Given the description of an element on the screen output the (x, y) to click on. 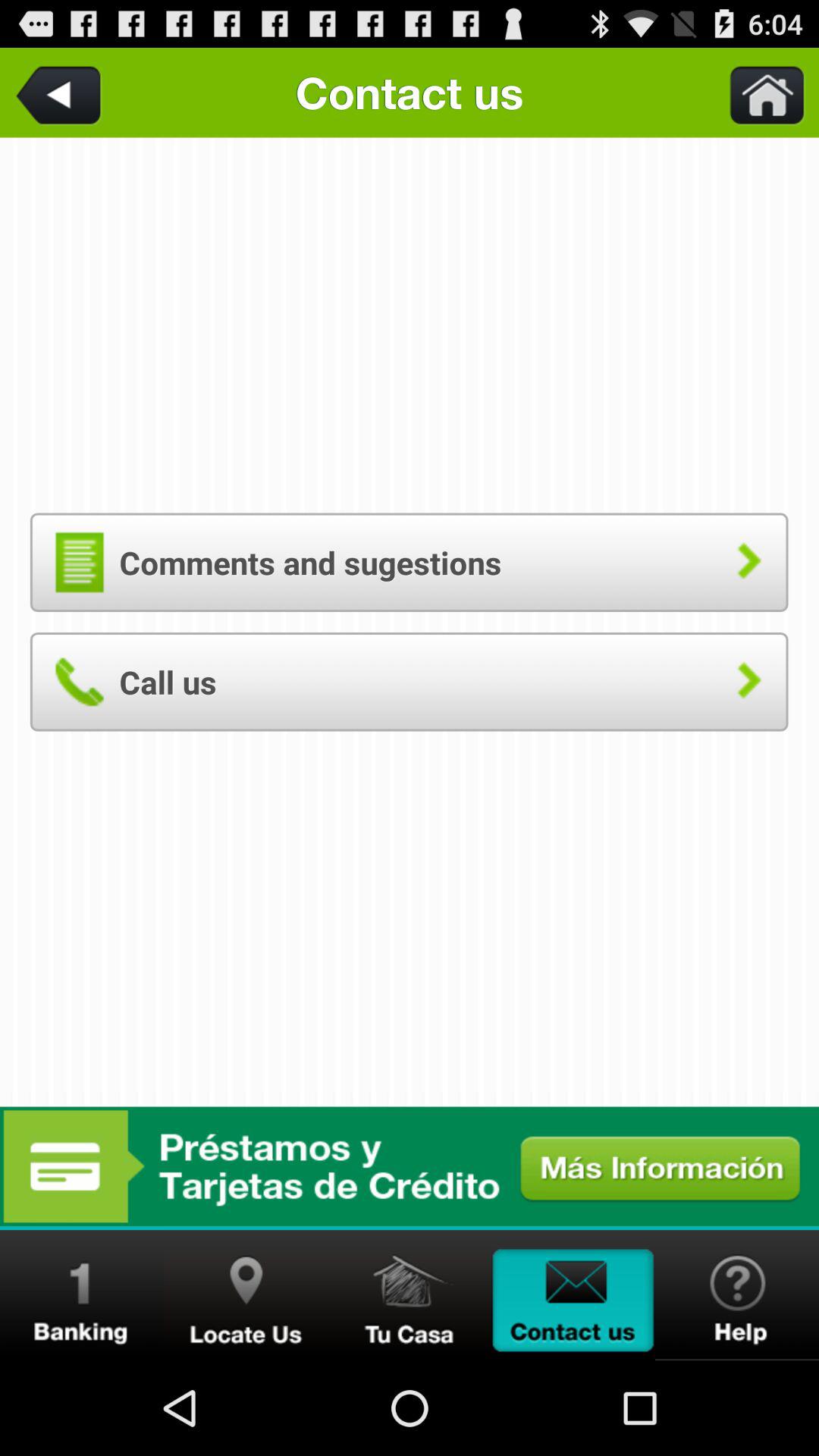
more information (409, 1166)
